Given the description of an element on the screen output the (x, y) to click on. 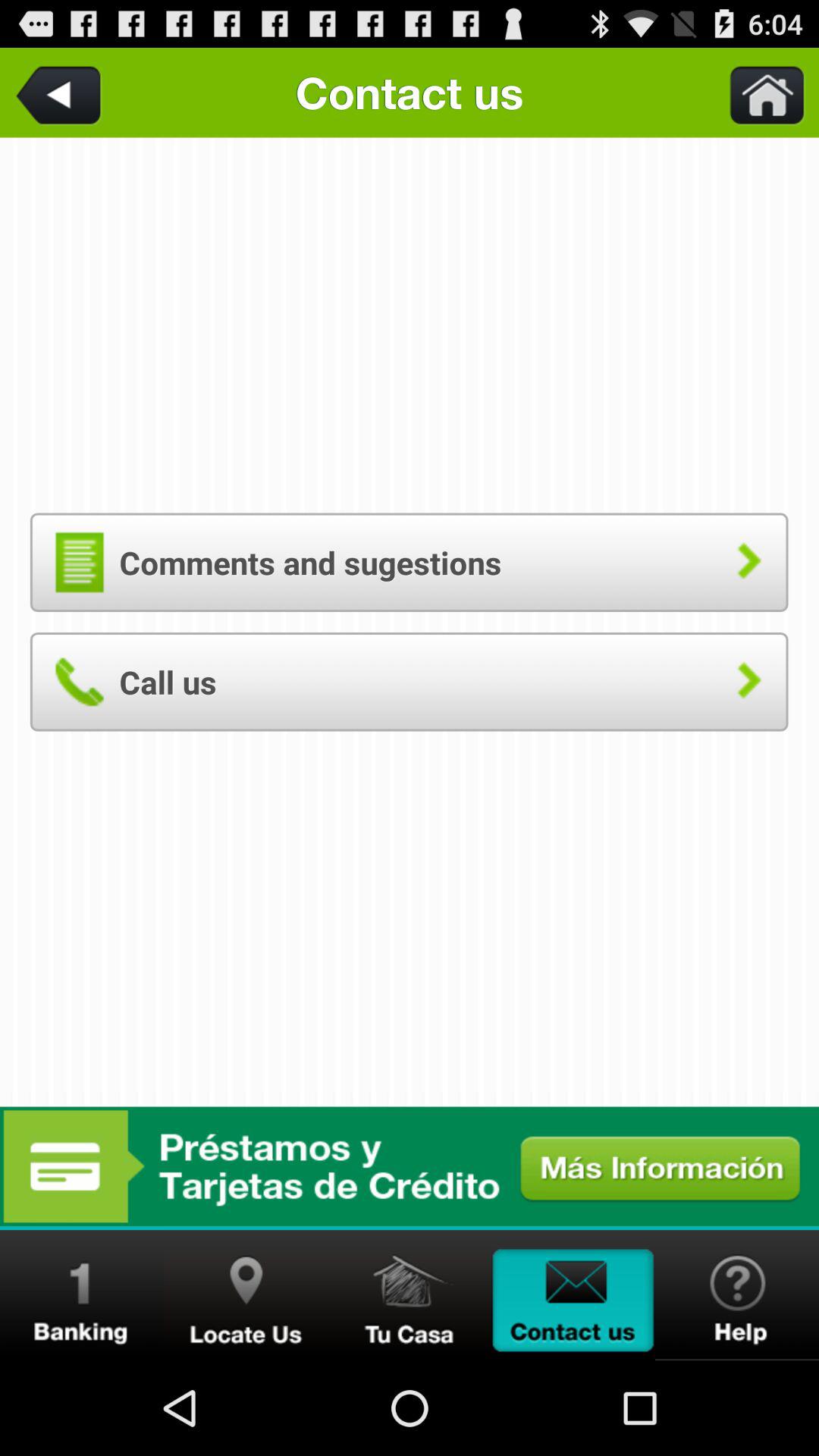
more information (409, 1166)
